Given the description of an element on the screen output the (x, y) to click on. 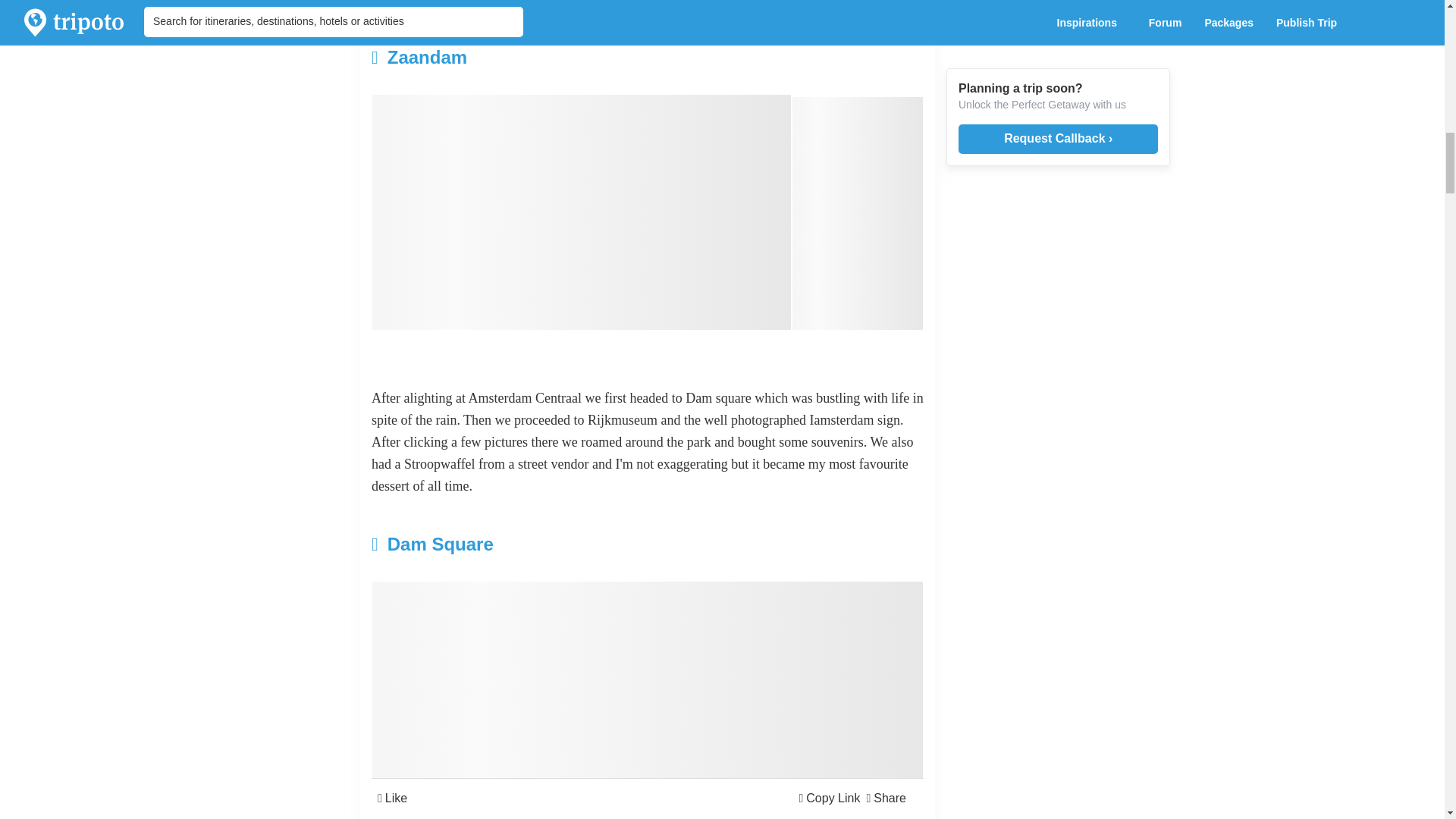
Zaandam (555, 57)
Dam Square (555, 543)
